Given the description of an element on the screen output the (x, y) to click on. 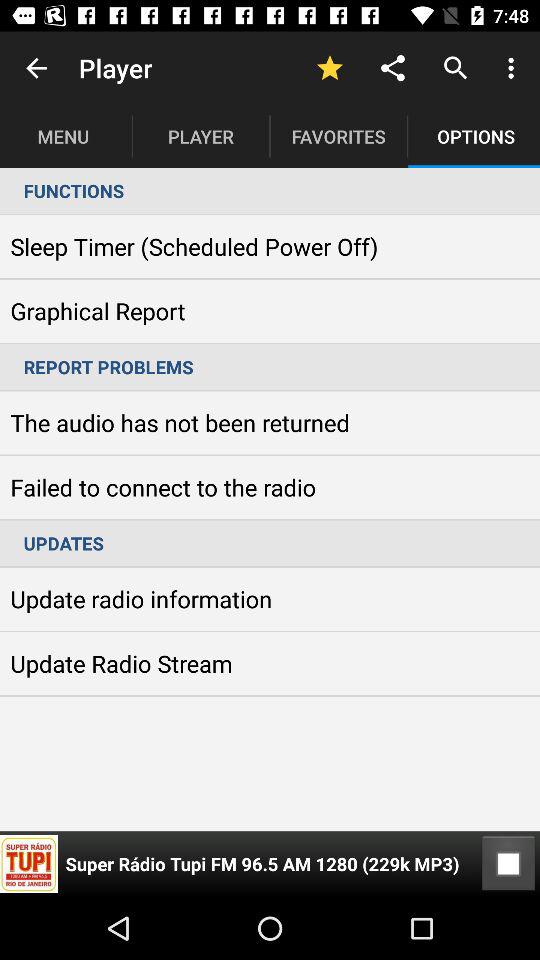
press icon above the menu (36, 68)
